Given the description of an element on the screen output the (x, y) to click on. 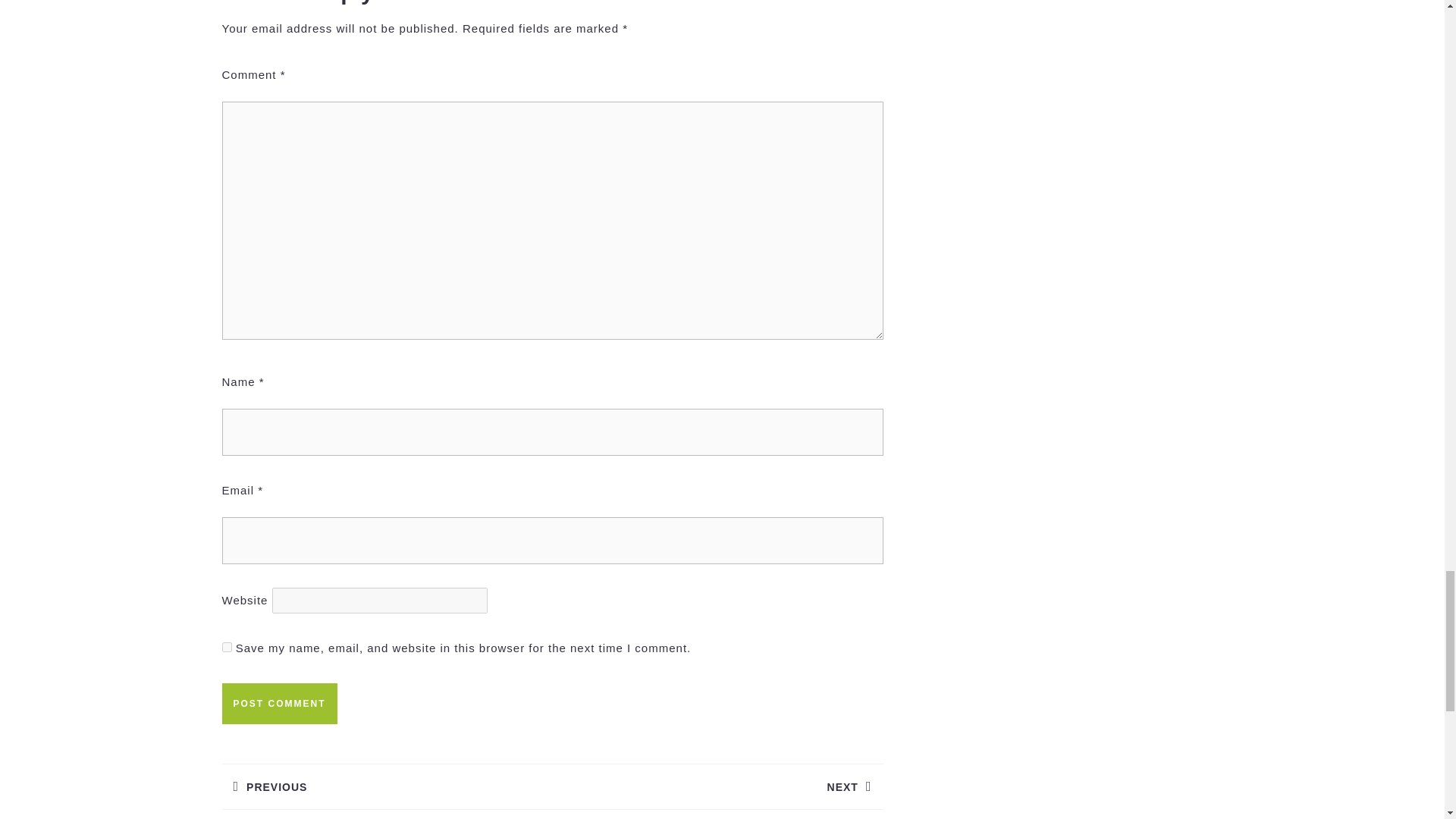
Post Comment (716, 777)
Post Comment (278, 703)
yes (278, 703)
